Given the description of an element on the screen output the (x, y) to click on. 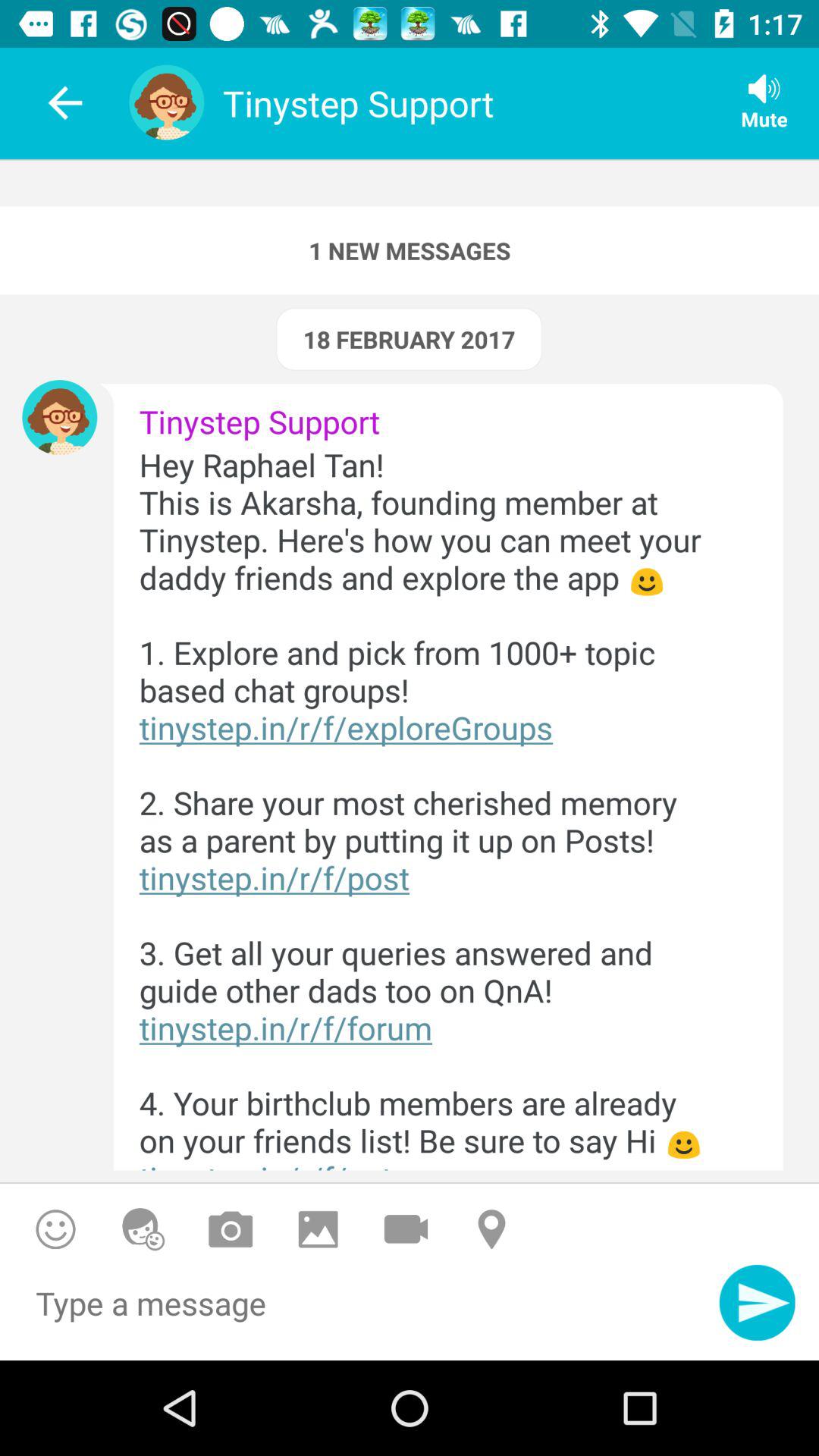
tinystep support profile (59, 417)
